Given the description of an element on the screen output the (x, y) to click on. 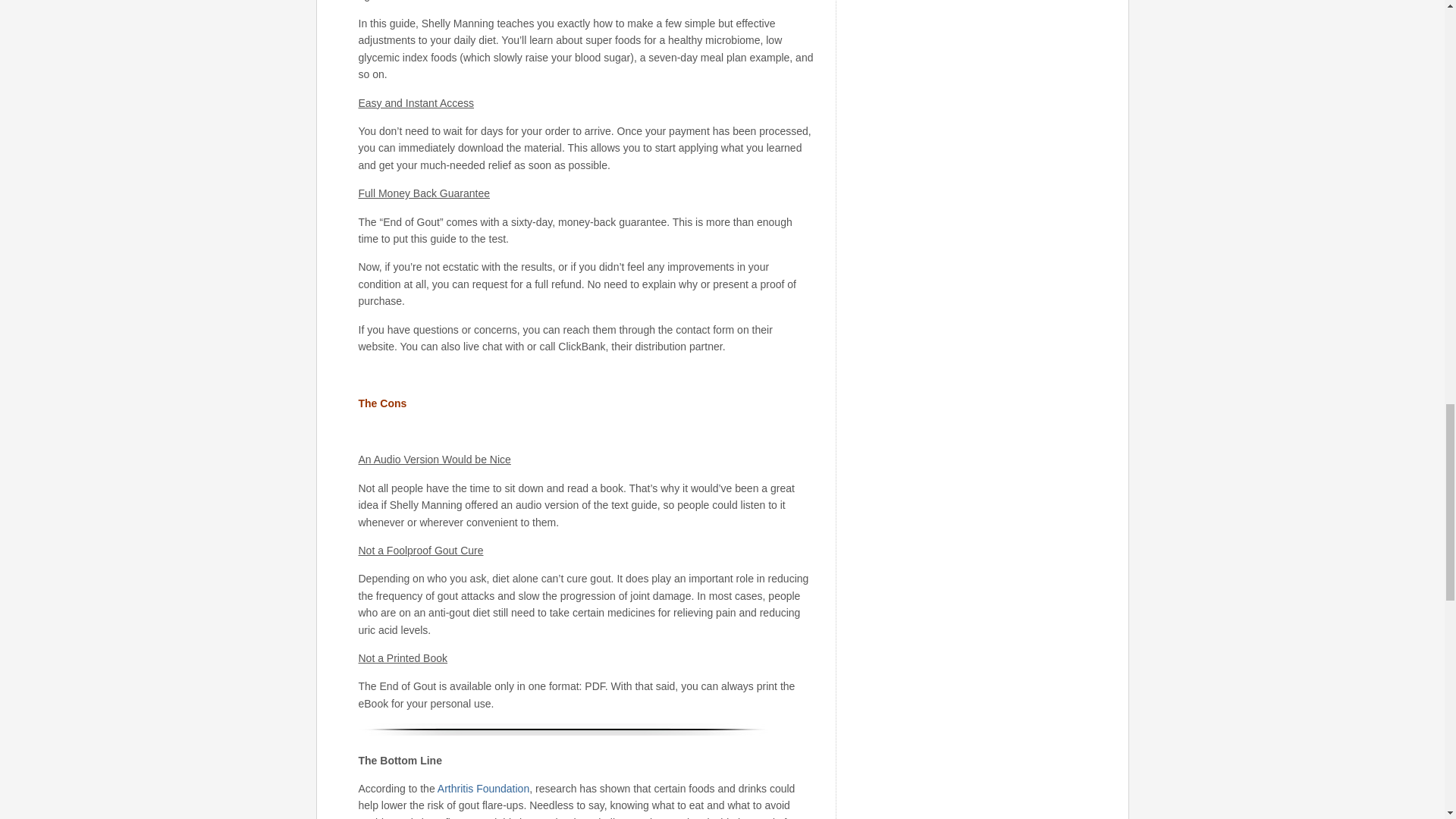
Arthritis Foundation (483, 788)
